Given the description of an element on the screen output the (x, y) to click on. 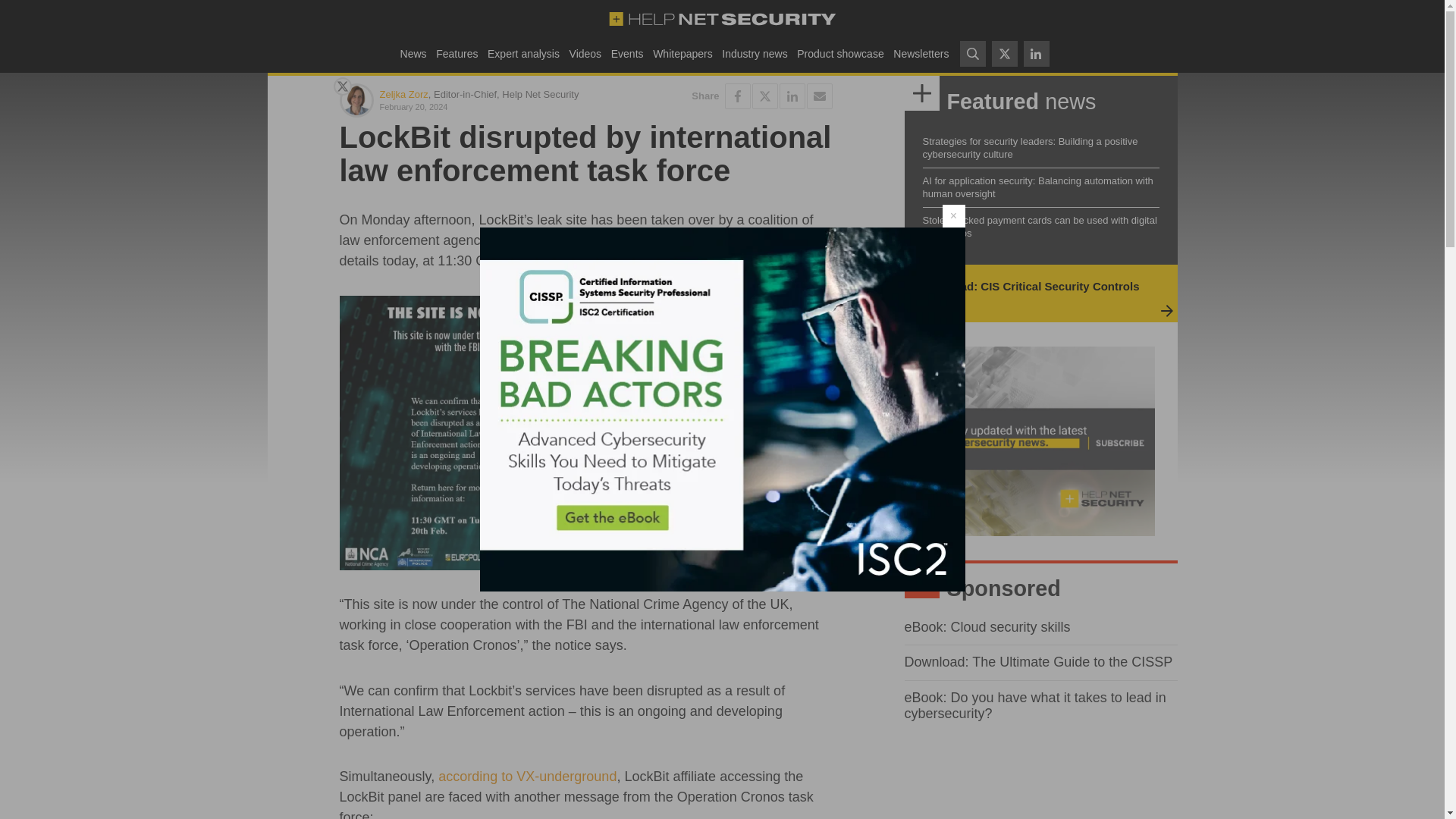
according to VX-underground (526, 776)
Events (626, 53)
News (412, 53)
Newsletters (920, 53)
eBook: Do you have what it takes to lead in cybersecurity? (1035, 705)
Features (456, 53)
